Given the description of an element on the screen output the (x, y) to click on. 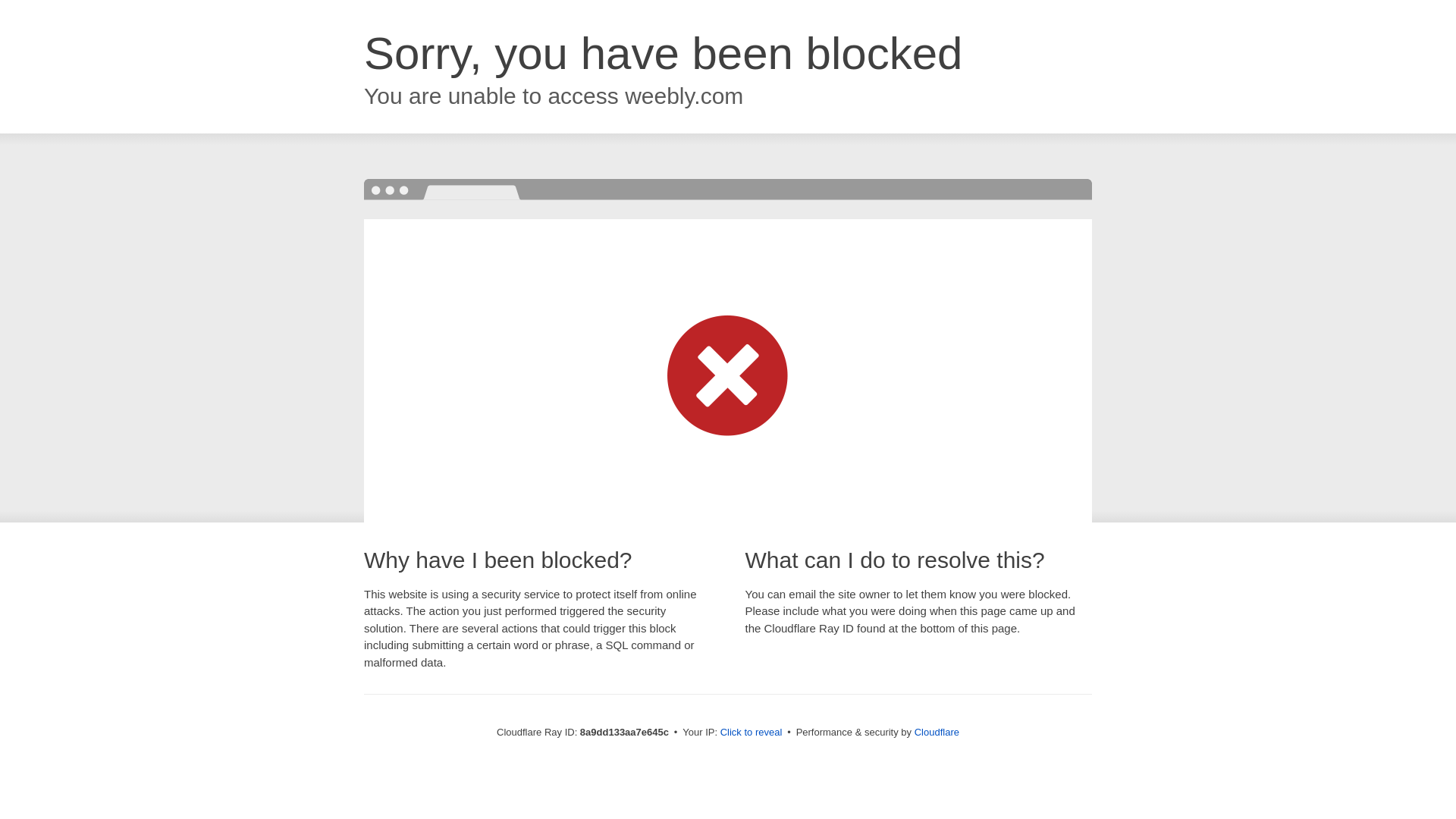
Cloudflare (936, 731)
Click to reveal (751, 732)
